Given the description of an element on the screen output the (x, y) to click on. 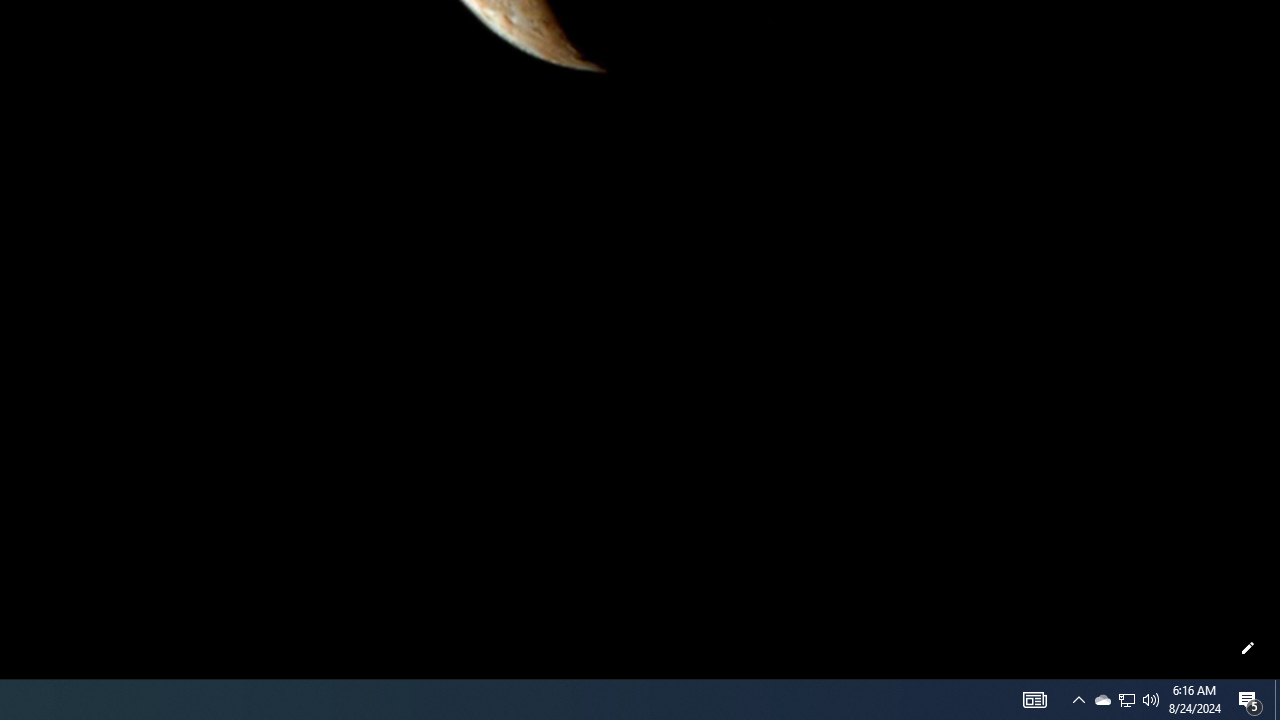
Customize this page (1247, 647)
